Given the description of an element on the screen output the (x, y) to click on. 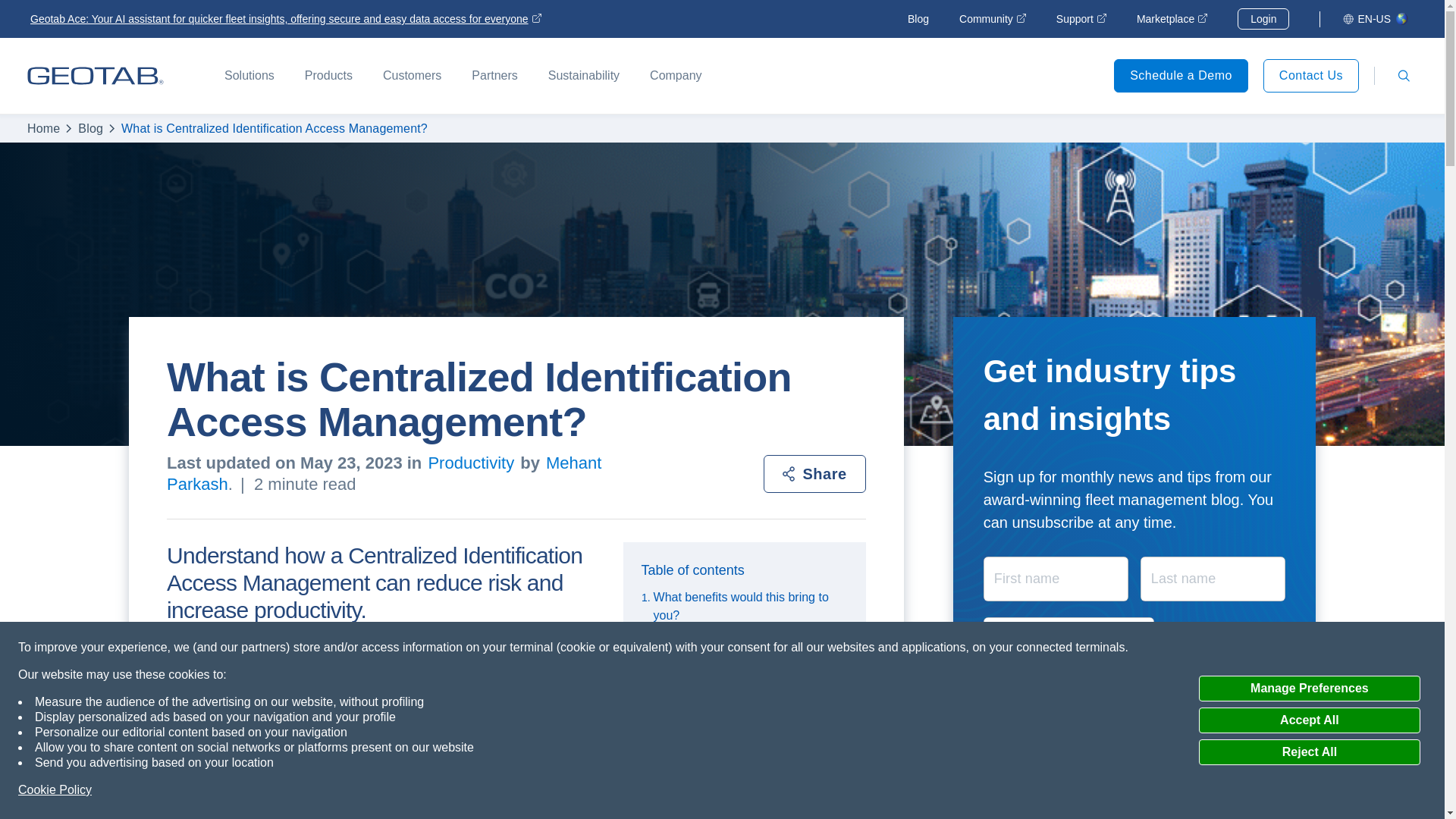
This link may open in a new tab (1172, 19)
Community (992, 19)
Manage Preferences (1309, 688)
Support (1081, 19)
This link may open in a new tab (1081, 19)
Reject All (1309, 751)
Marketplace (1172, 19)
This link may open in a new tab (992, 19)
Accept All (1309, 720)
Login (1262, 18)
Blog (917, 19)
Search (1403, 75)
Cookie Policy (54, 789)
EN-US (1375, 18)
